Given the description of an element on the screen output the (x, y) to click on. 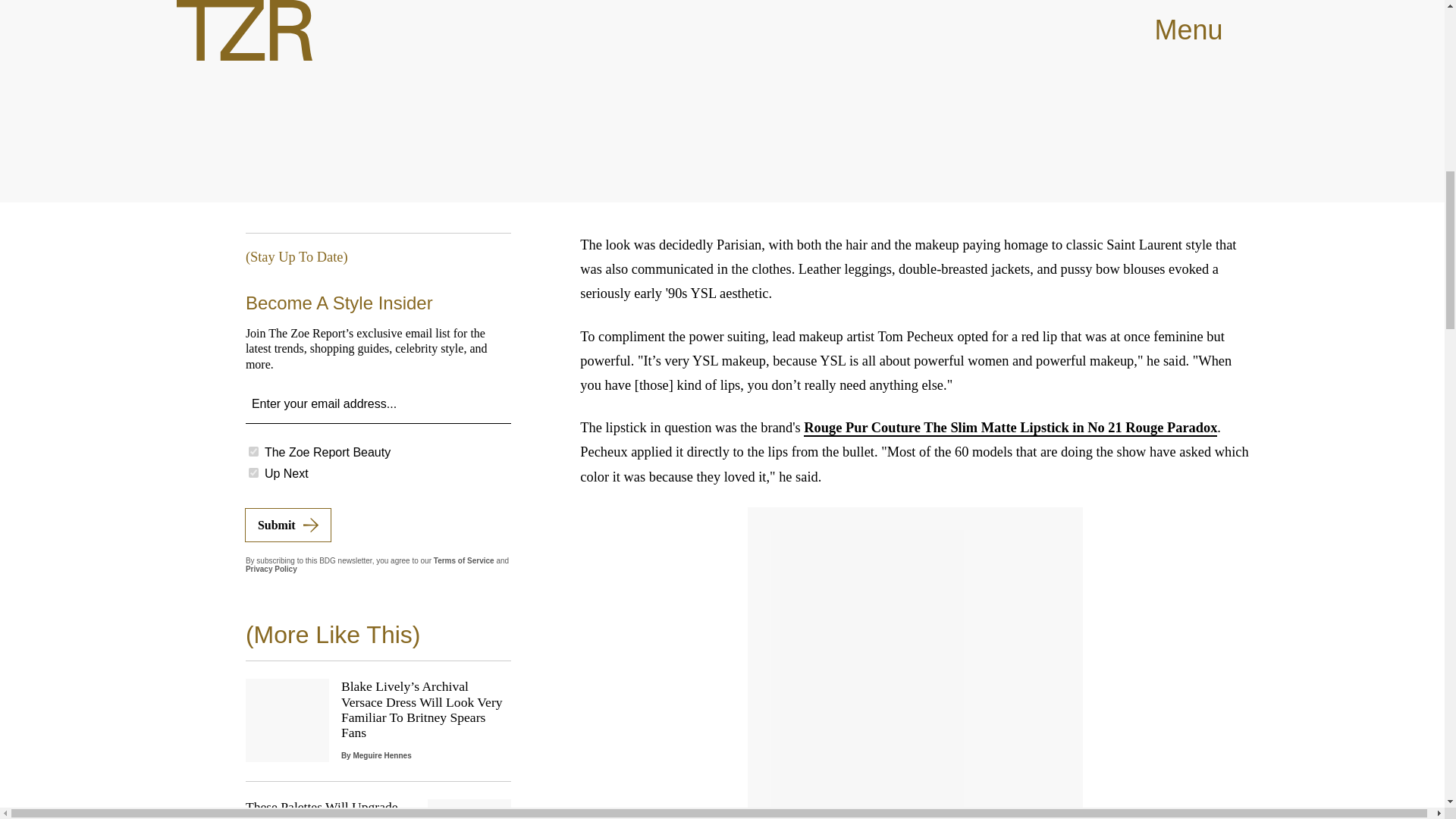
Terms of Service (464, 560)
Submit (288, 524)
Privacy Policy (271, 569)
